Given the description of an element on the screen output the (x, y) to click on. 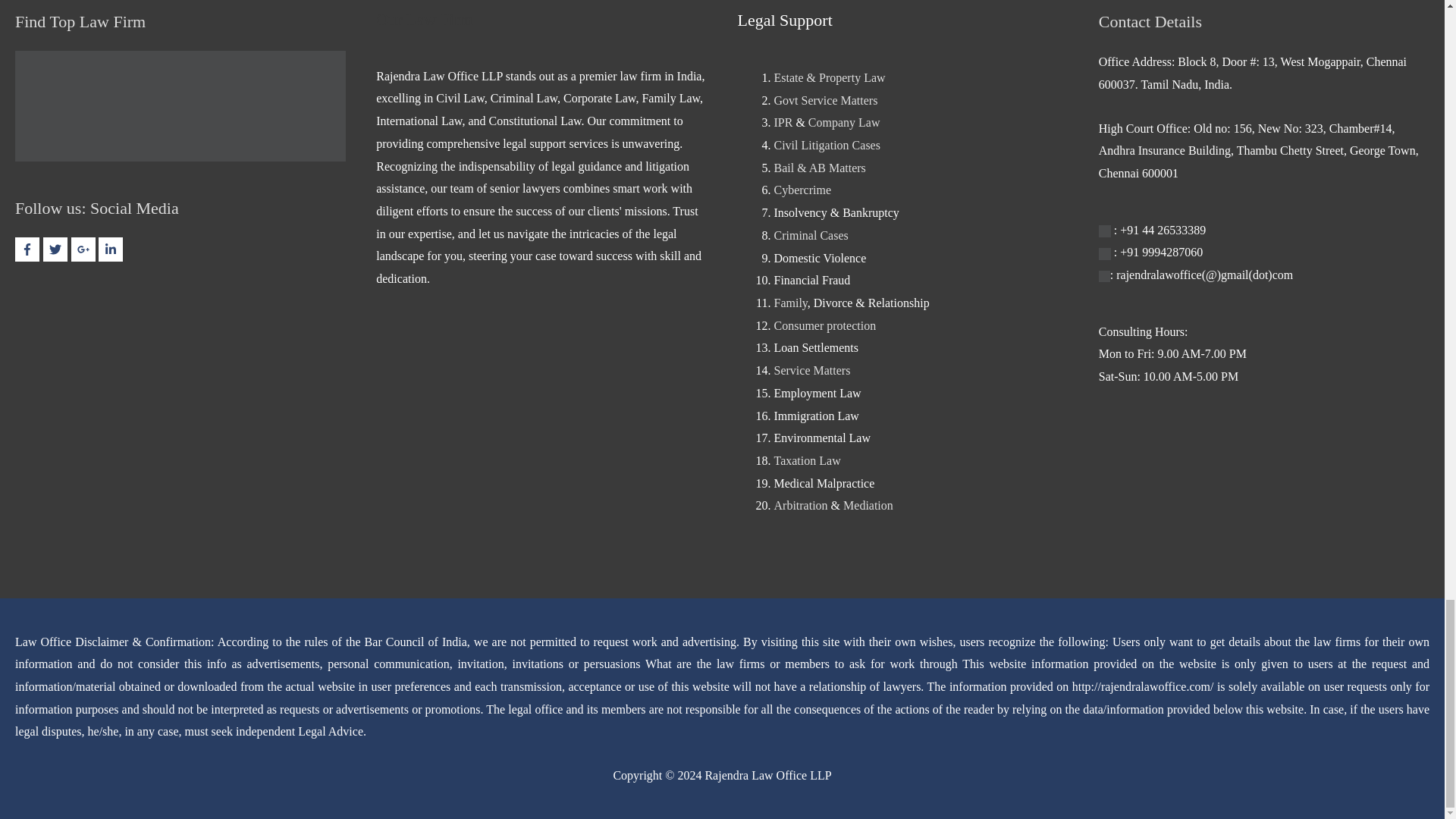
Family (789, 302)
Service Matters (811, 369)
Criminal Cases (810, 235)
Arbitration (800, 504)
YouTube video player (180, 417)
Rajendra Law Office (180, 105)
Mediation (868, 504)
Company Law (844, 122)
Consumer protection (824, 325)
IPR (782, 122)
